Given the description of an element on the screen output the (x, y) to click on. 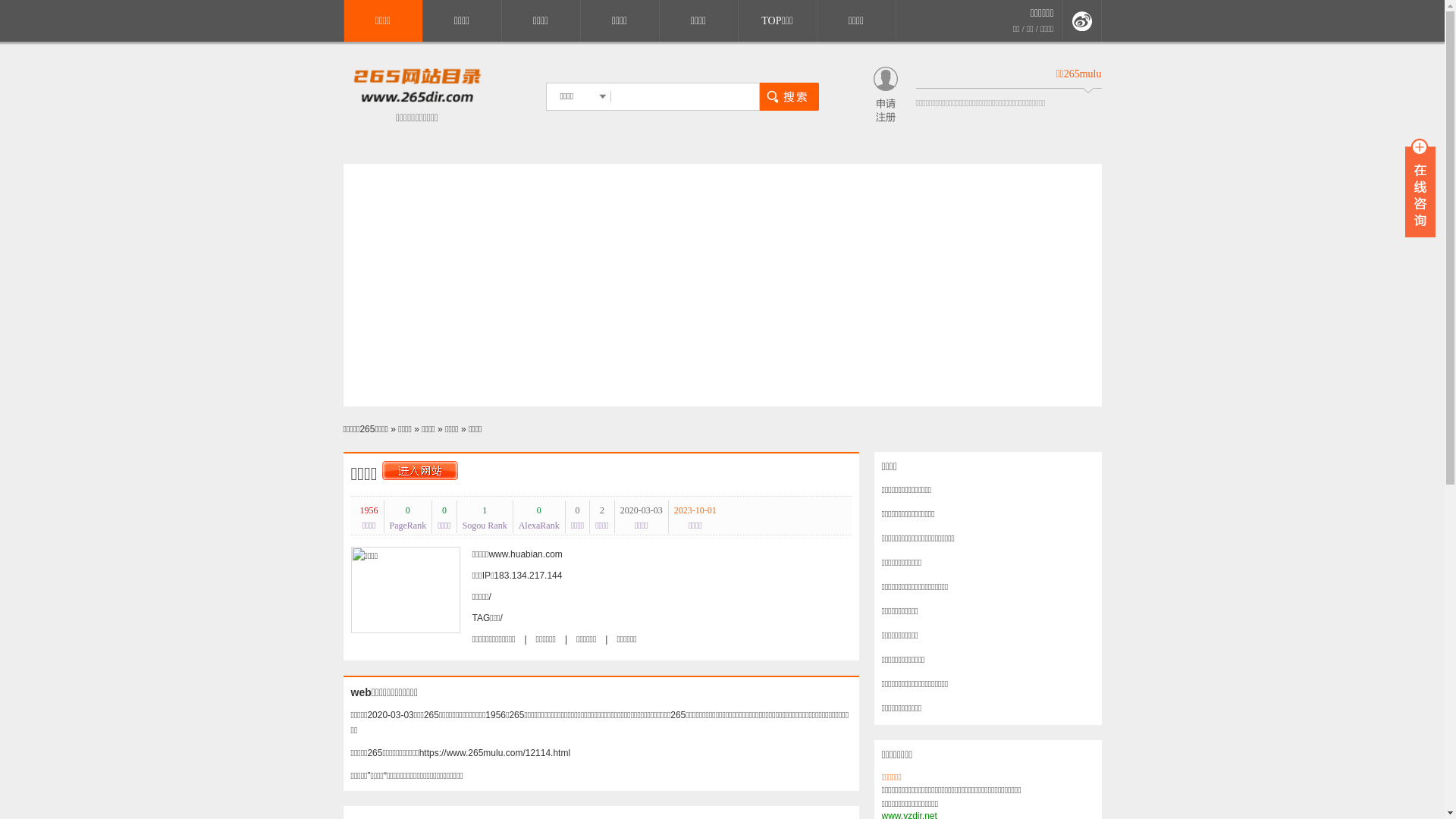
/ Element type: text (500, 617)
https://www.265mulu.com/ Element type: hover (416, 101)
https://www.265mulu.com/12114.html Element type: text (494, 752)
Advertisement Element type: hover (721, 284)
